Given the description of an element on the screen output the (x, y) to click on. 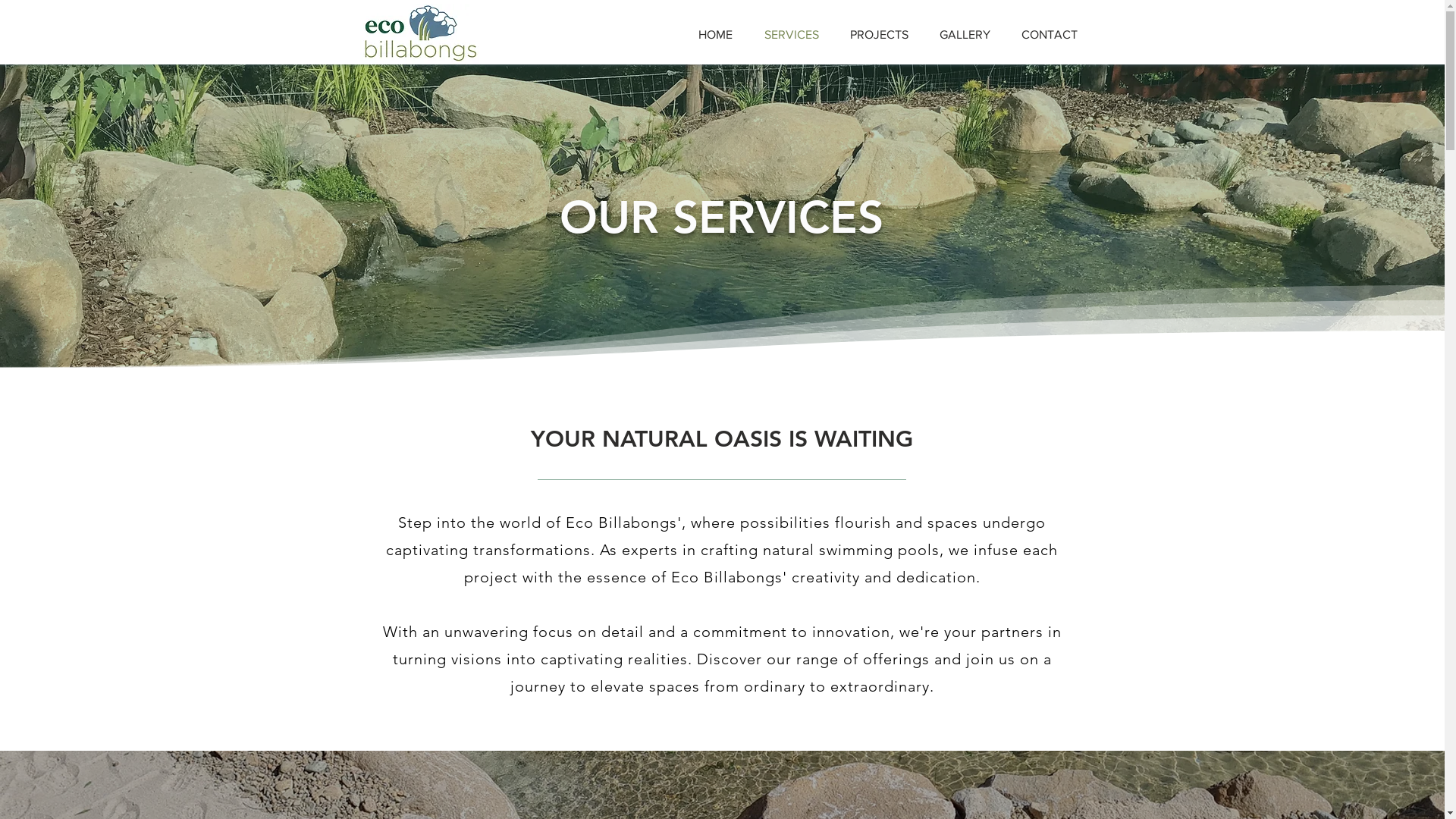
CONTACT Element type: text (1048, 34)
PROJECTS Element type: text (878, 34)
HOME Element type: text (715, 34)
SERVICES Element type: text (790, 34)
PrimaryLogo_RGB_NoTag-01.jpg Element type: hover (418, 33)
GALLERY Element type: text (964, 34)
